Given the description of an element on the screen output the (x, y) to click on. 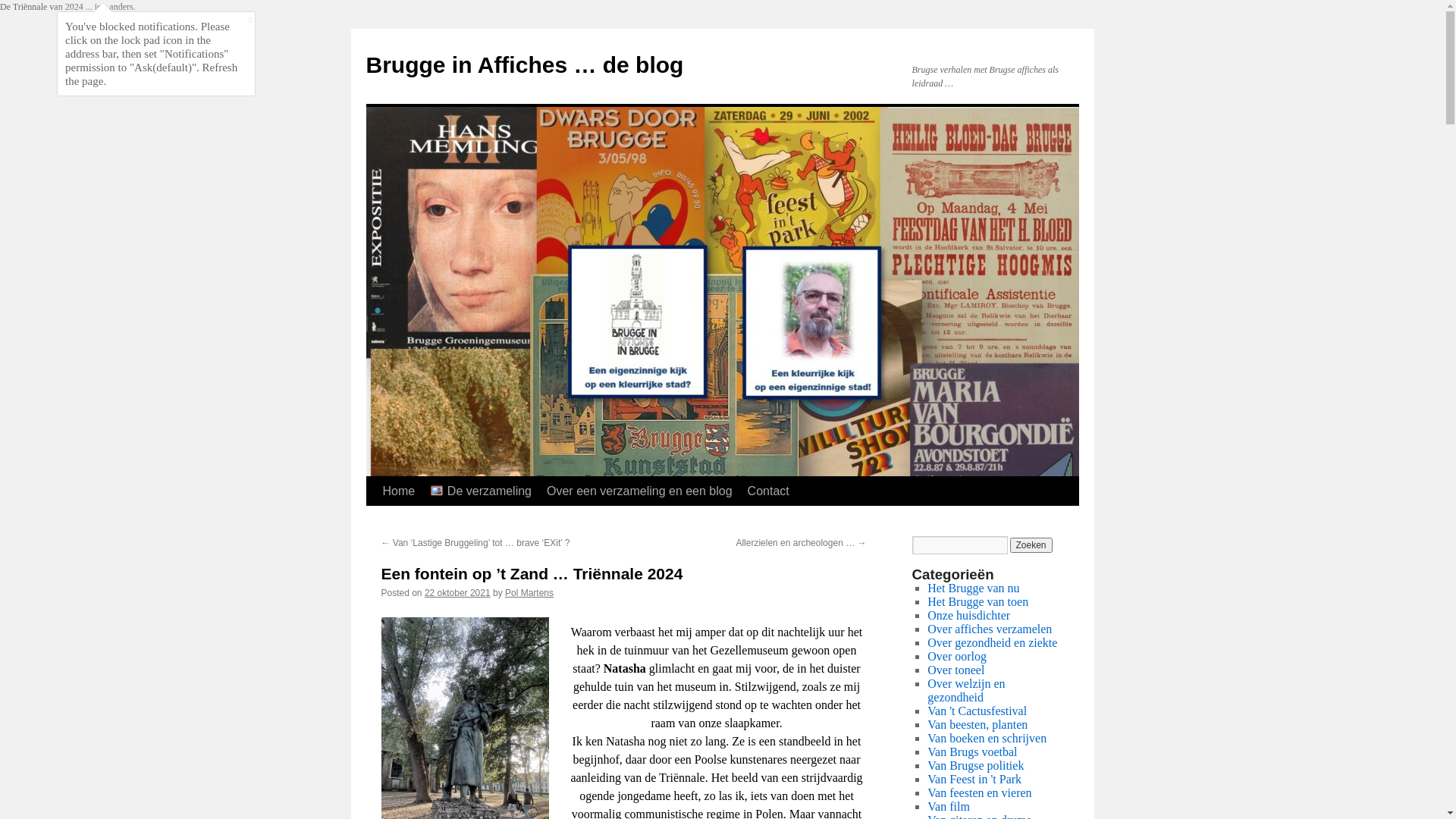
Contact Element type: text (768, 490)
Van Feest in 't Park Element type: text (974, 778)
Home Element type: text (398, 490)
Over een verzameling en een blog Element type: text (639, 490)
Van beesten, planten Element type: text (977, 724)
Het Brugge van toen Element type: text (977, 601)
22 oktober 2021 Element type: text (457, 592)
Over welzijn en gezondheid Element type: text (965, 690)
Van Brugs voetbal Element type: text (971, 751)
De verzameling Element type: text (480, 490)
Skip to content Element type: text (372, 519)
Van feesten en vieren Element type: text (979, 792)
Over toneel Element type: text (955, 669)
Van film Element type: text (948, 806)
Van boeken en schrijven Element type: text (986, 737)
Van Brugse politiek Element type: text (975, 765)
Het Brugge van nu Element type: text (973, 587)
Over oorlog Element type: text (956, 655)
Zoeken Element type: text (1031, 544)
Pol Martens Element type: text (529, 592)
Over affiches verzamelen Element type: text (989, 628)
Over gezondheid en ziekte Element type: text (992, 642)
Van 't Cactusfestival Element type: text (976, 710)
Onze huisdichter Element type: text (968, 614)
